Given the description of an element on the screen output the (x, y) to click on. 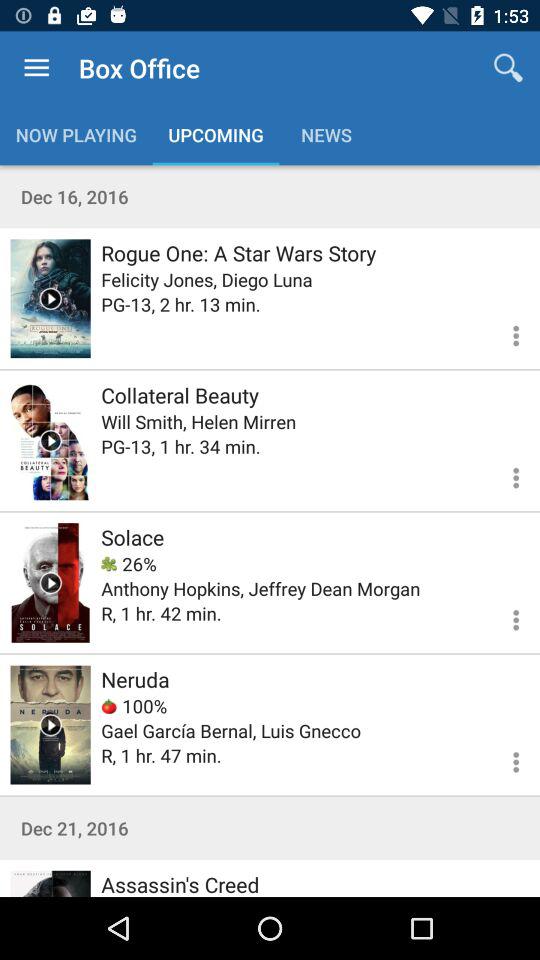
toggle edit options (503, 617)
